Given the description of an element on the screen output the (x, y) to click on. 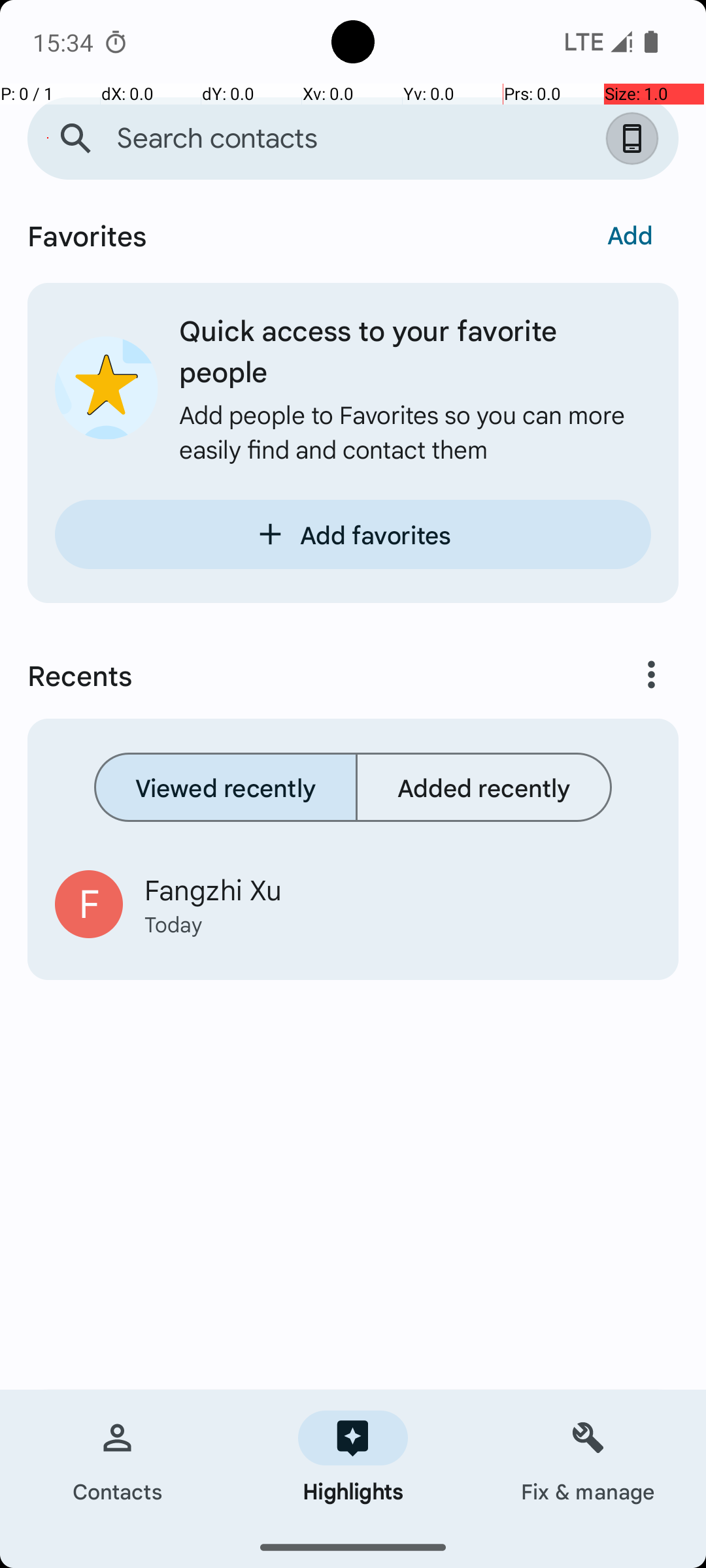
Quick access to your favorite people Element type: android.widget.TextView (415, 350)
Add people to Favorites so you can more easily find and contact them Element type: android.widget.TextView (415, 431)
Add favorites Element type: android.widget.Button (352, 534)
Recents Element type: android.widget.TextView (298, 674)
Viewed recently Element type: android.widget.CompoundButton (225, 787)
Added recently Element type: android.widget.CompoundButton (483, 787)
Fangzhi Xu Element type: android.widget.TextView (397, 888)
